Given the description of an element on the screen output the (x, y) to click on. 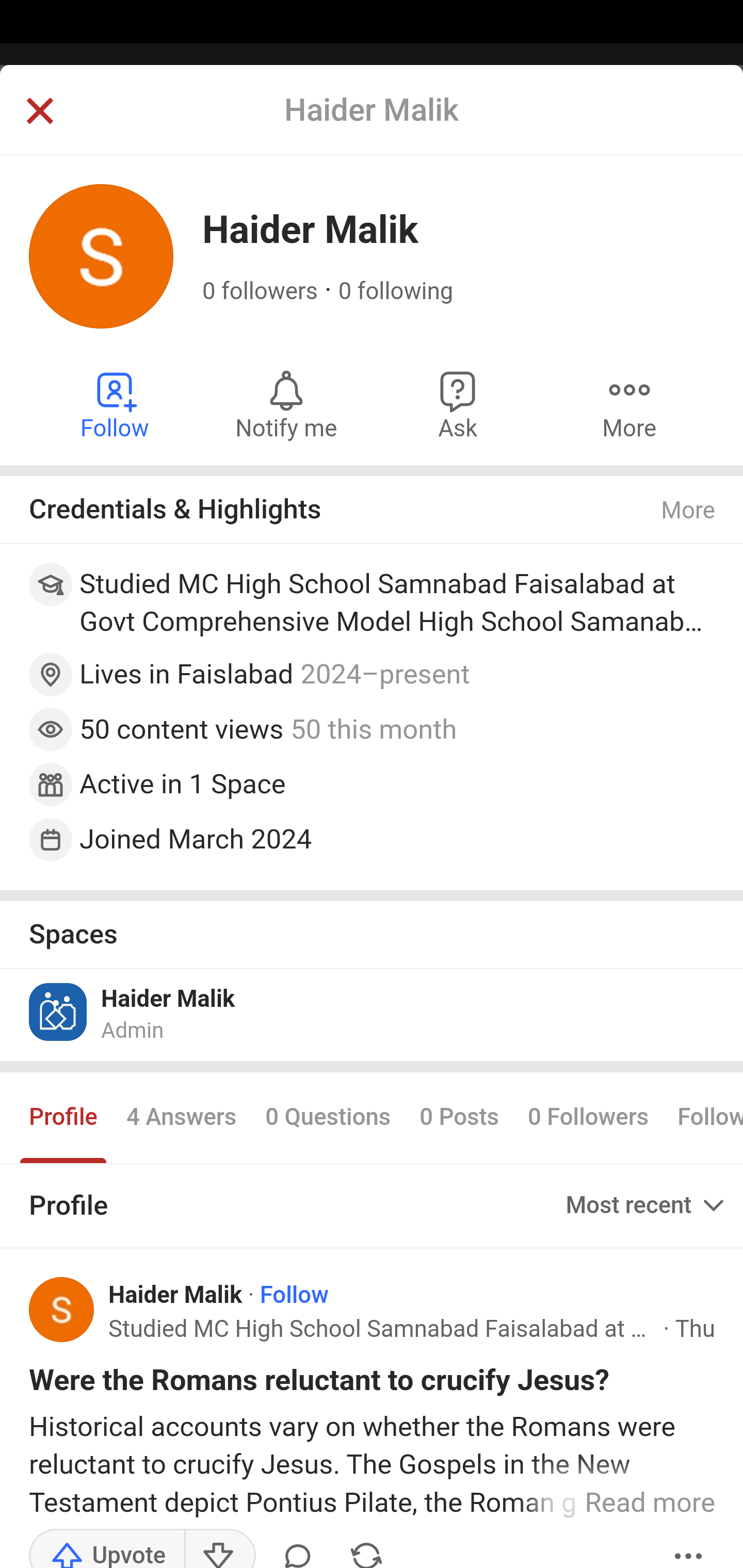
Back Answer (371, 125)
 (39, 112)
0 followers (260, 291)
0 following (395, 291)
Follow Haider Malik Follow (115, 404)
Notify me (285, 404)
Ask (458, 404)
More (628, 404)
More (688, 510)
Icon for Haider Malik (58, 1011)
Haider Malik (168, 998)
Profile (63, 1117)
4 Answers (180, 1117)
0 Questions (327, 1117)
0 Posts (459, 1117)
0 Followers (588, 1117)
Following (702, 1117)
Most recent (647, 1204)
Profile photo for Haider Malik (61, 1309)
Haider Malik (175, 1294)
Follow (293, 1294)
Upvote (106, 1547)
Downvote (219, 1547)
Comment (297, 1547)
Share (366, 1547)
More (688, 1547)
